Given the description of an element on the screen output the (x, y) to click on. 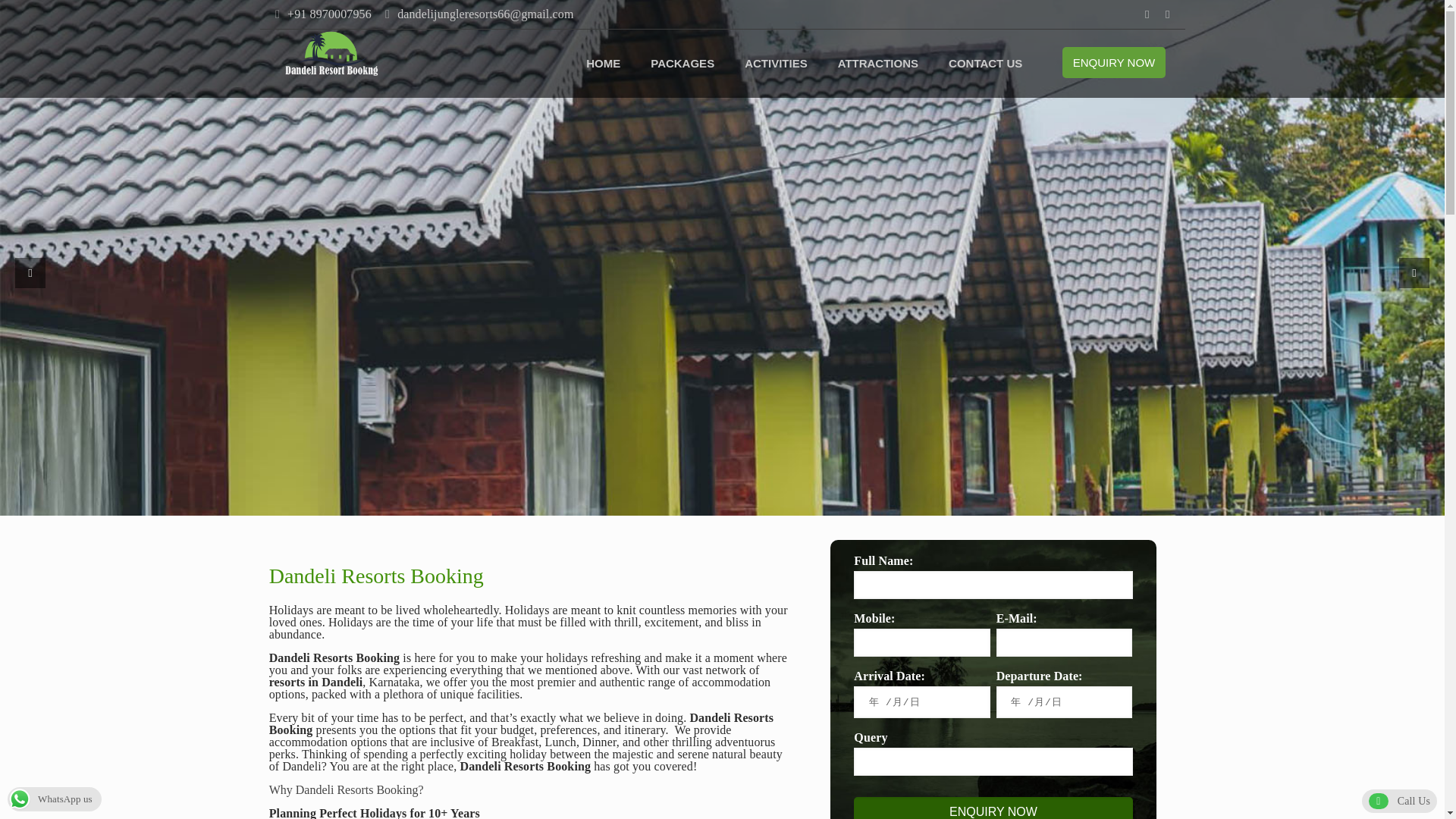
HOME (602, 63)
Dandeli Resorts Booking (331, 52)
PACKAGES (681, 63)
WhatsApp us (54, 797)
Facebook (1166, 14)
ACTIVITIES (775, 63)
CONTACT US (984, 63)
ENQUIRY NOW (1114, 61)
Dandeli Resort Packages (681, 63)
ENQUIRY NOW (1114, 61)
ENQUIRY NOW (992, 807)
Dandeli Resort Booking (602, 63)
ATTRACTIONS (877, 63)
Call Us (1399, 801)
WhatsApp (1146, 14)
